Given the description of an element on the screen output the (x, y) to click on. 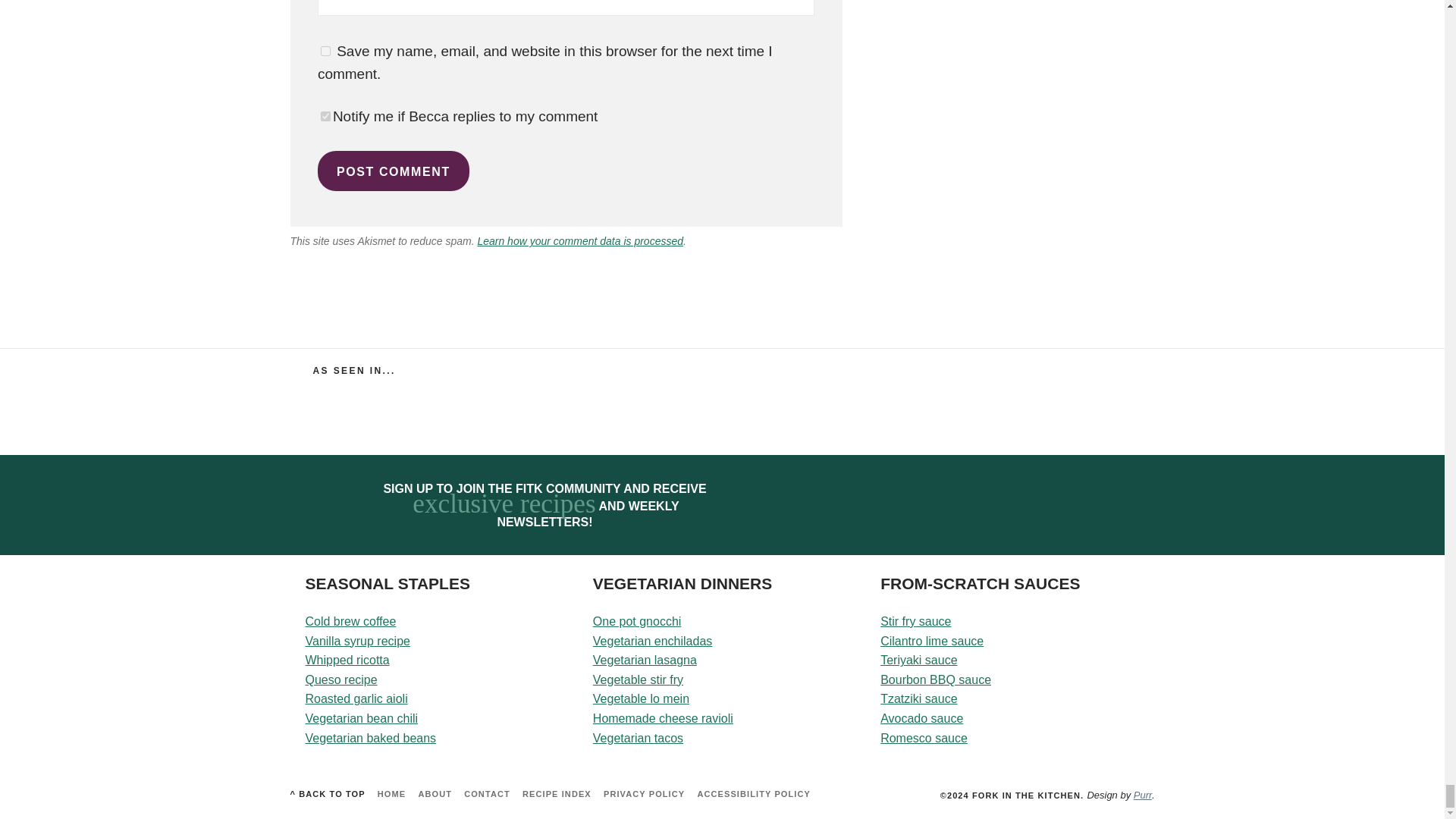
Post Comment (392, 170)
yes (325, 50)
on (325, 116)
